Given the description of an element on the screen output the (x, y) to click on. 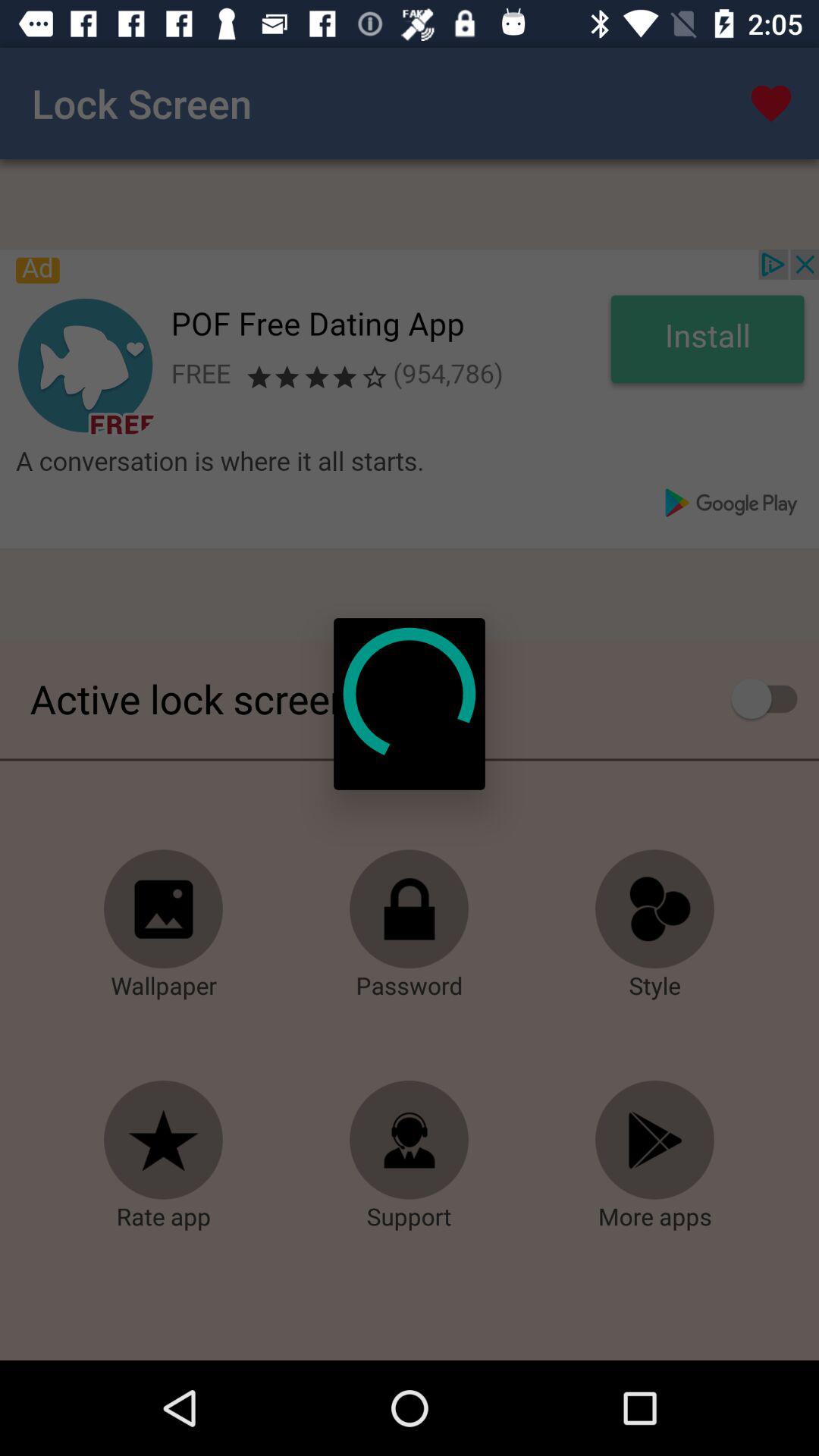
go to rating (163, 1140)
